Given the description of an element on the screen output the (x, y) to click on. 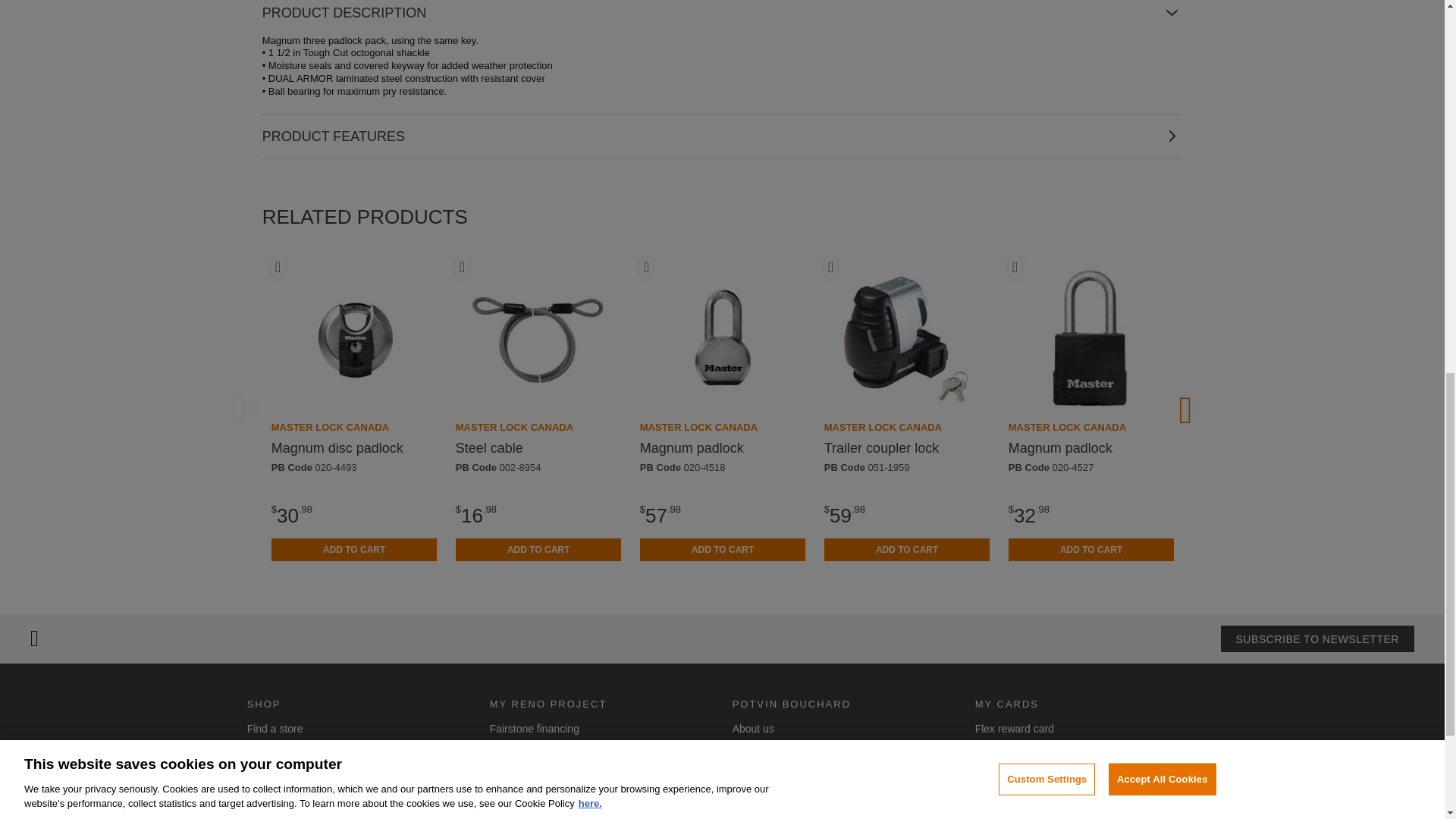
Magnum disc padlock (336, 447)
